Given the description of an element on the screen output the (x, y) to click on. 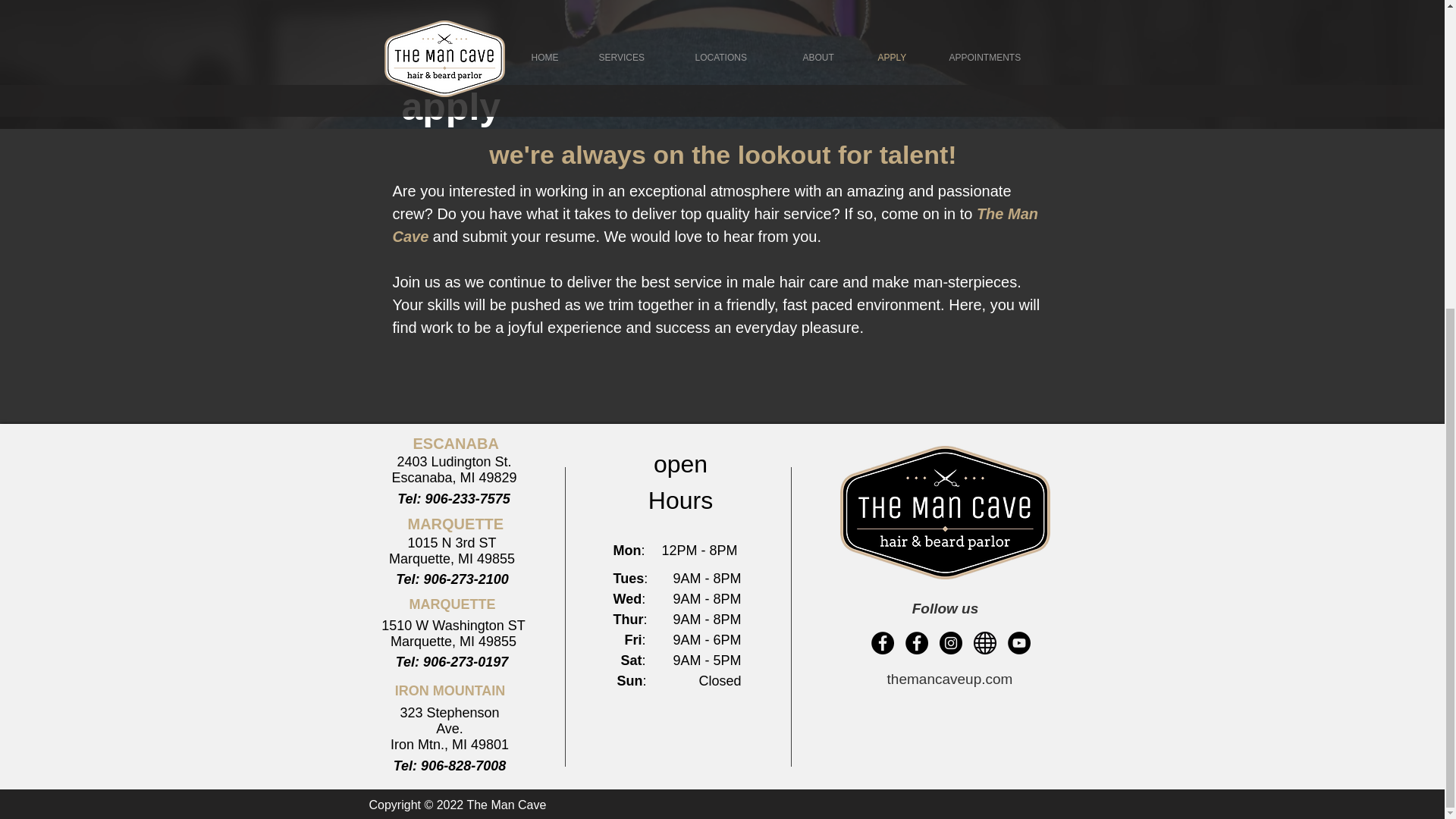
Tel: 906-828-7008 (449, 765)
MARQUETTE (455, 523)
Tel: 906-273-2100 (451, 579)
ESCANABA (454, 443)
MARQUETTE (452, 604)
Tel: 906-233-7575 (453, 498)
Tel: 906-273-0197 (452, 661)
IRON MOUNTAIN (450, 690)
